Given the description of an element on the screen output the (x, y) to click on. 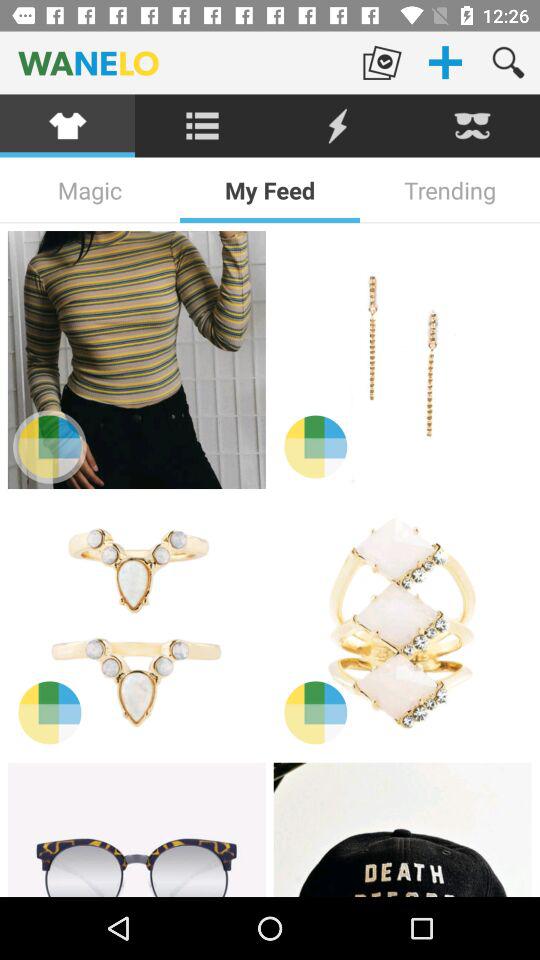
select hat option (402, 829)
